Given the description of an element on the screen output the (x, y) to click on. 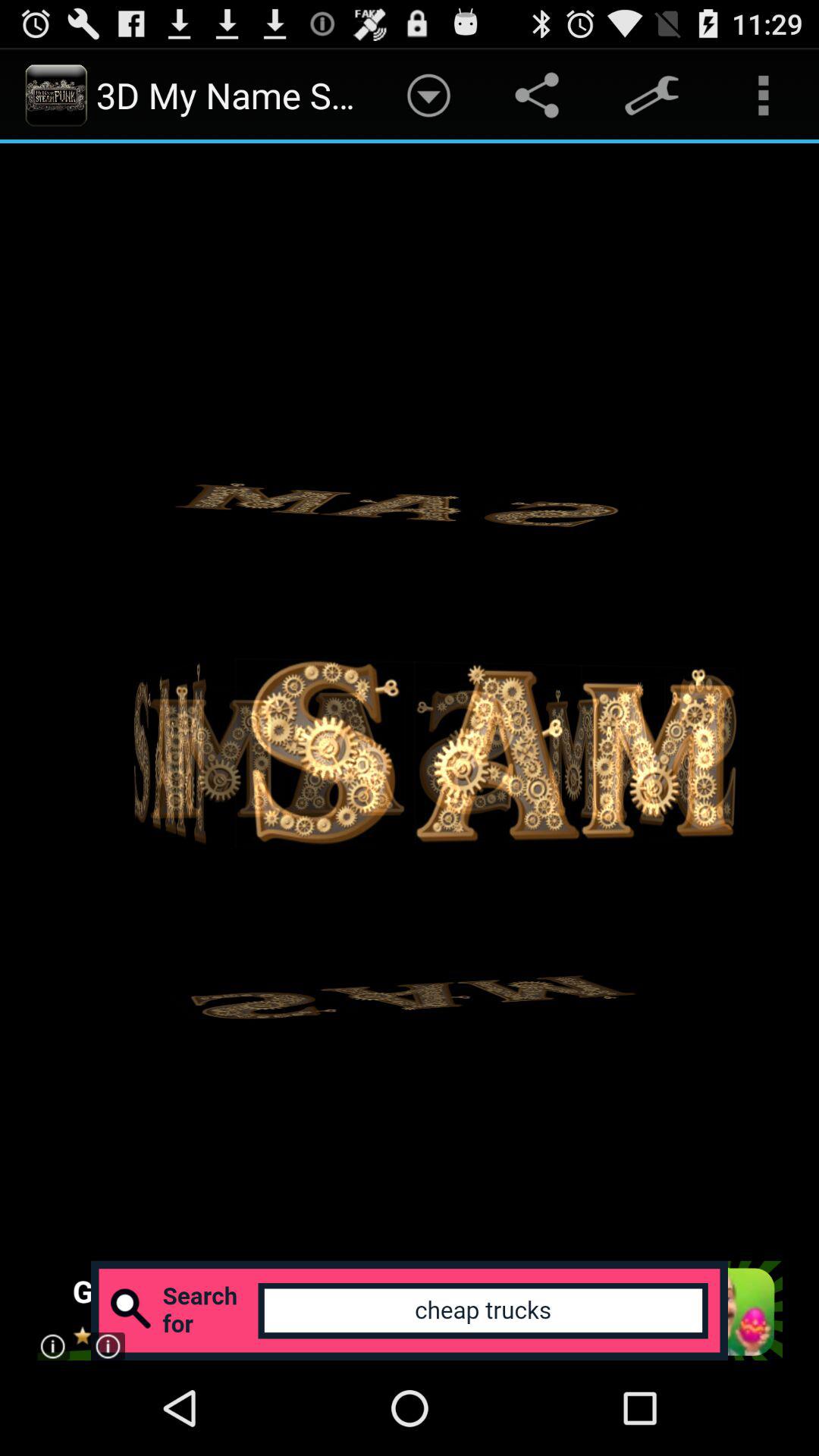
search engine (408, 1310)
